Given the description of an element on the screen output the (x, y) to click on. 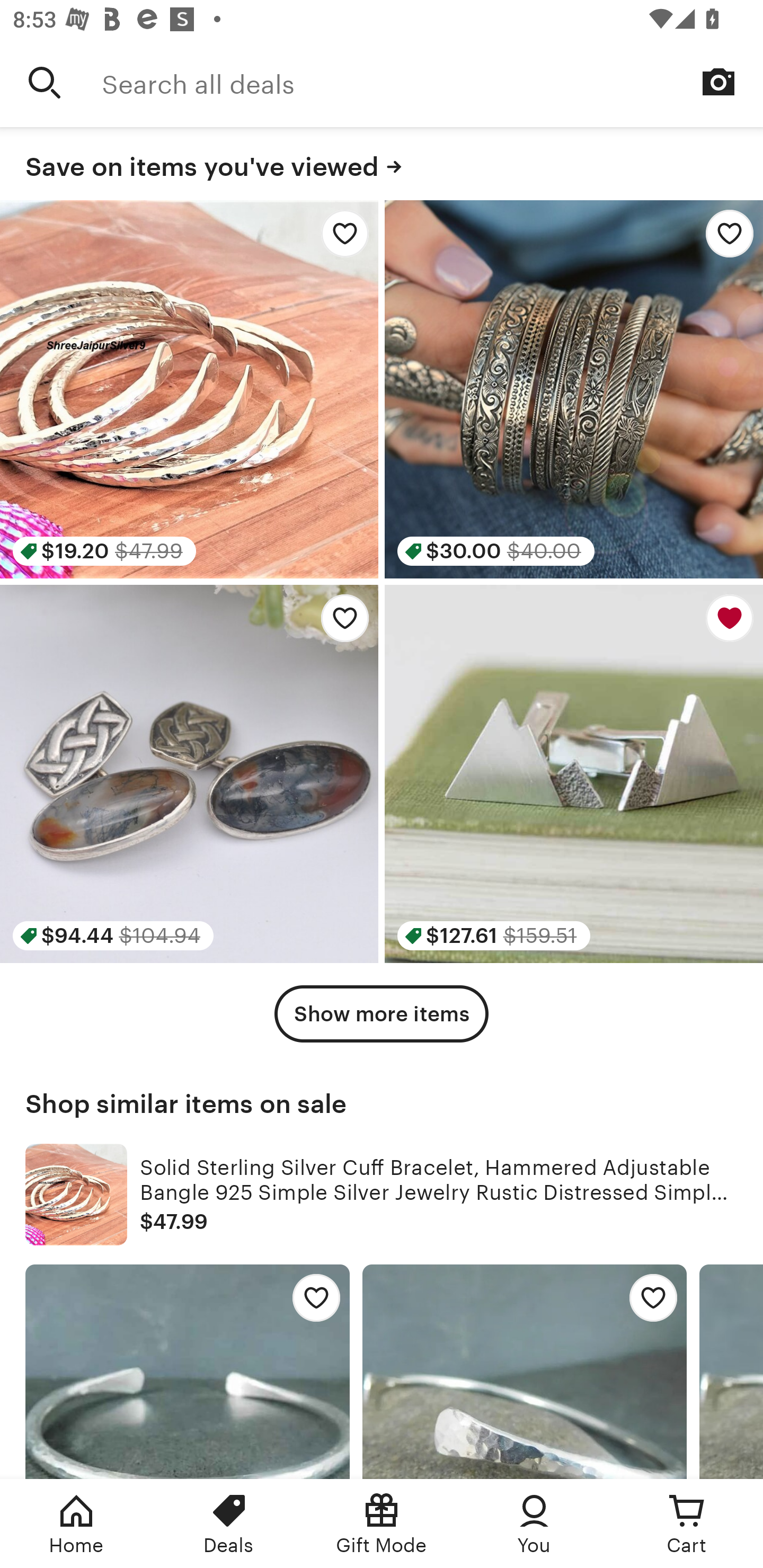
Search for anything on Etsy (44, 82)
Search by image (718, 81)
Search all deals (432, 82)
Save on items you've viewed (381, 164)
Show more items (381, 1013)
Home (76, 1523)
Gift Mode (381, 1523)
You (533, 1523)
Cart (686, 1523)
